Given the description of an element on the screen output the (x, y) to click on. 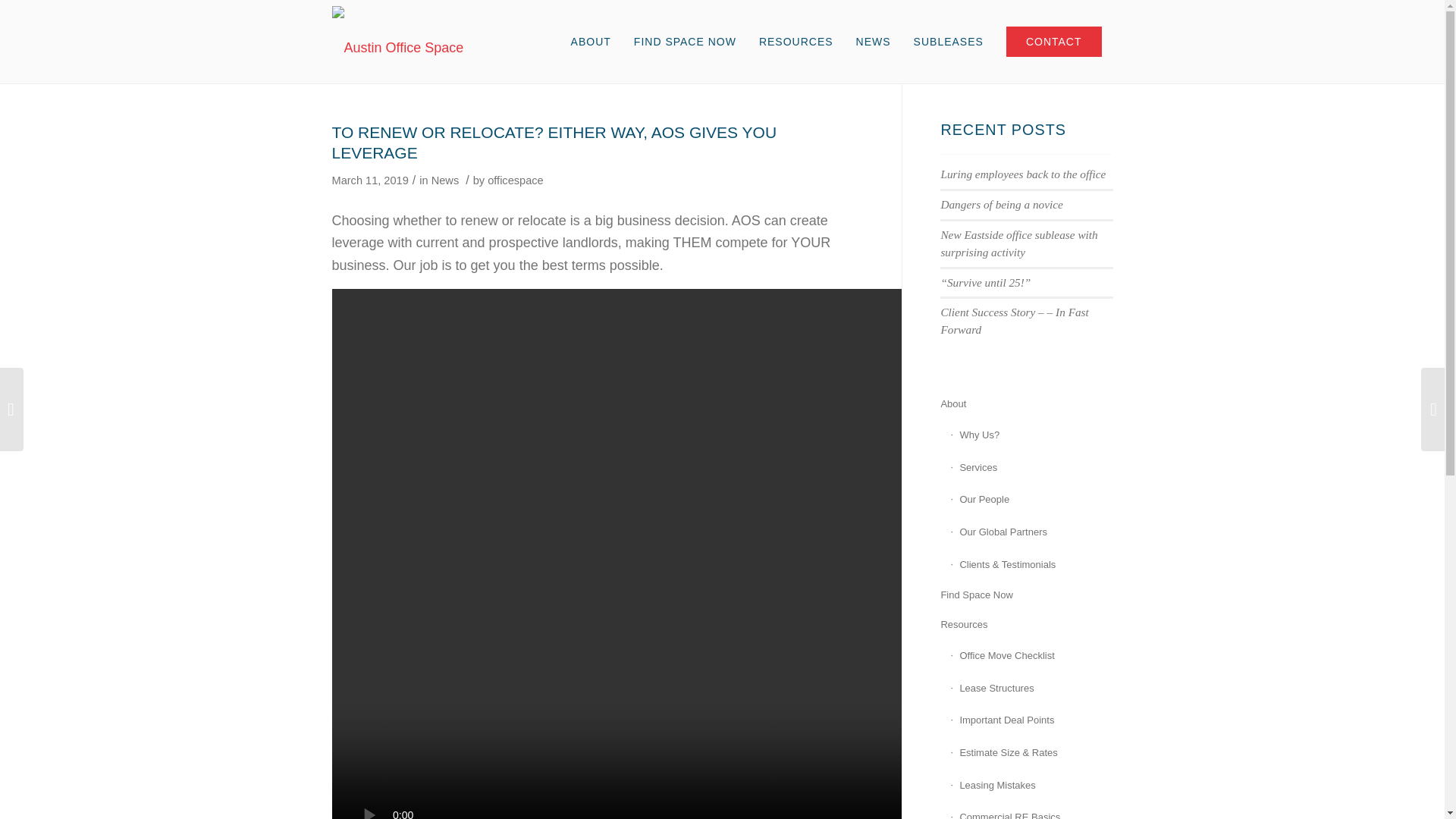
Services (1031, 468)
About (1026, 404)
NEWS (873, 41)
ABOUT (591, 41)
FIND SPACE NOW (685, 41)
officespace (515, 180)
Posts by officespace (515, 180)
Why Us? (1031, 435)
New Eastside office sublease with surprising activity (1018, 243)
SUBLEASES (948, 41)
TO RENEW OR RELOCATE? EITHER WAY, AOS GIVES YOU LEVERAGE (554, 142)
Luring employees back to the office (1022, 173)
CONTACT (1053, 41)
RESOURCES (796, 41)
